Given the description of an element on the screen output the (x, y) to click on. 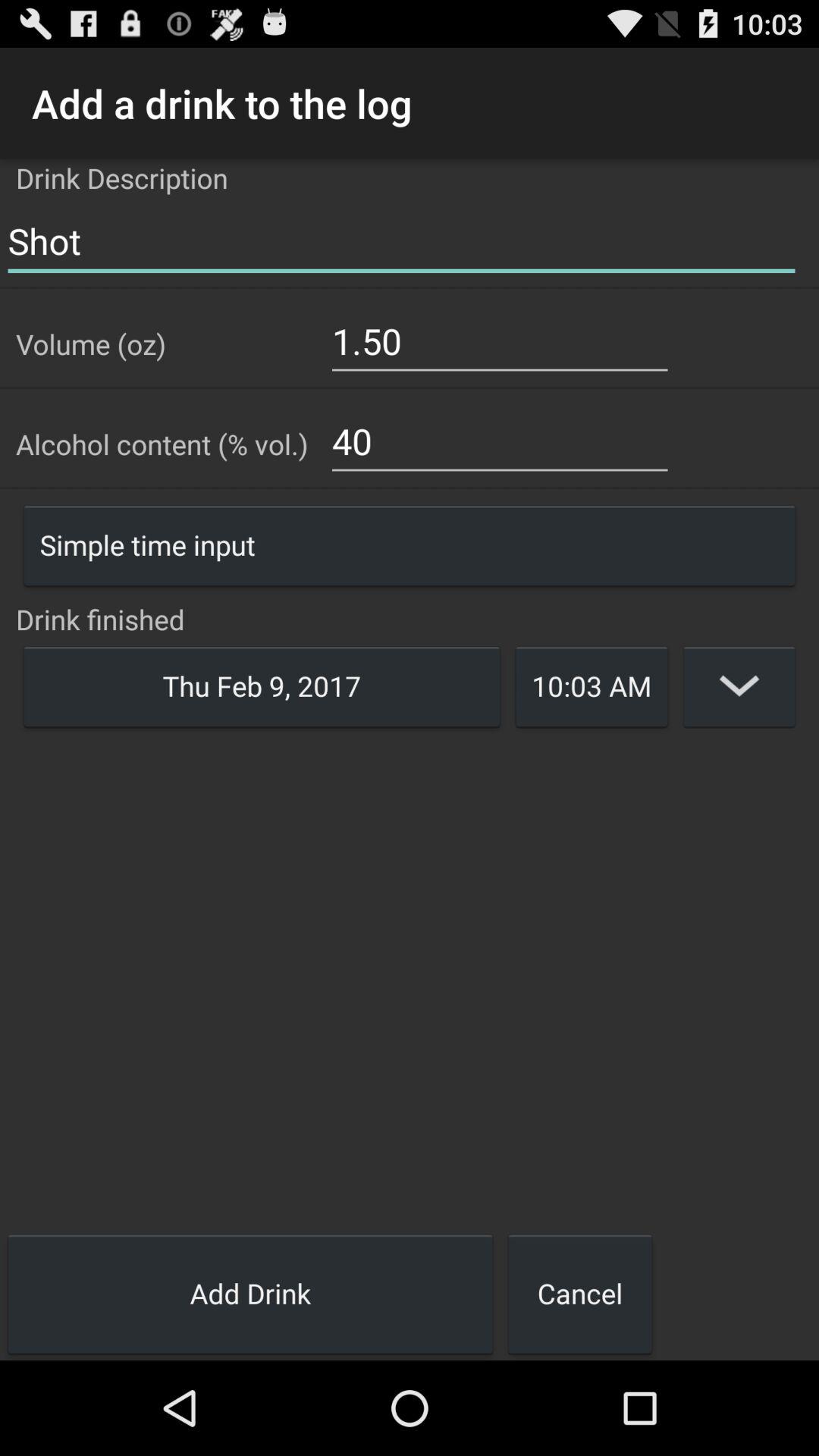
open time options (739, 685)
